Given the description of an element on the screen output the (x, y) to click on. 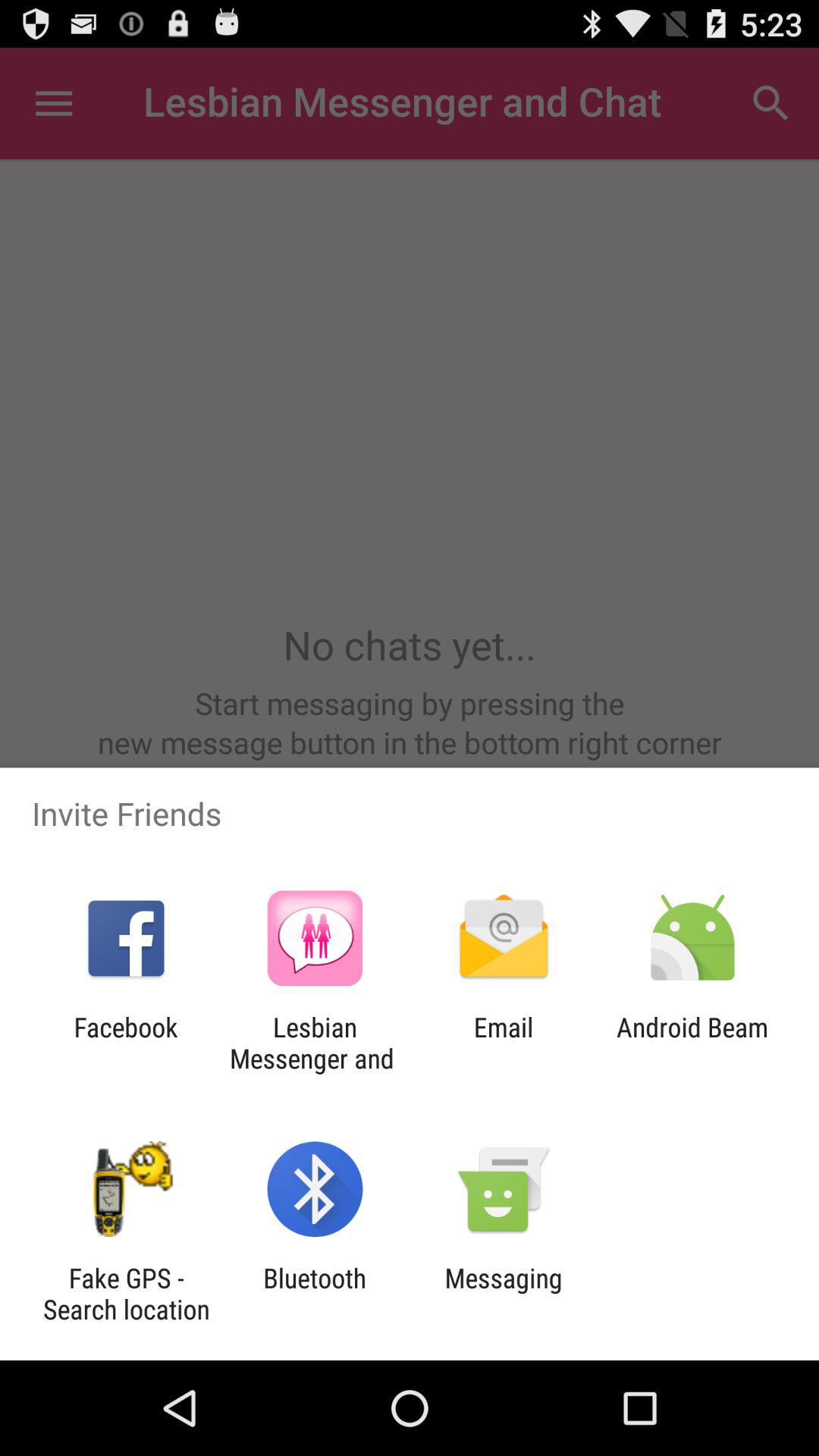
tap icon to the right of the facebook item (314, 1042)
